Given the description of an element on the screen output the (x, y) to click on. 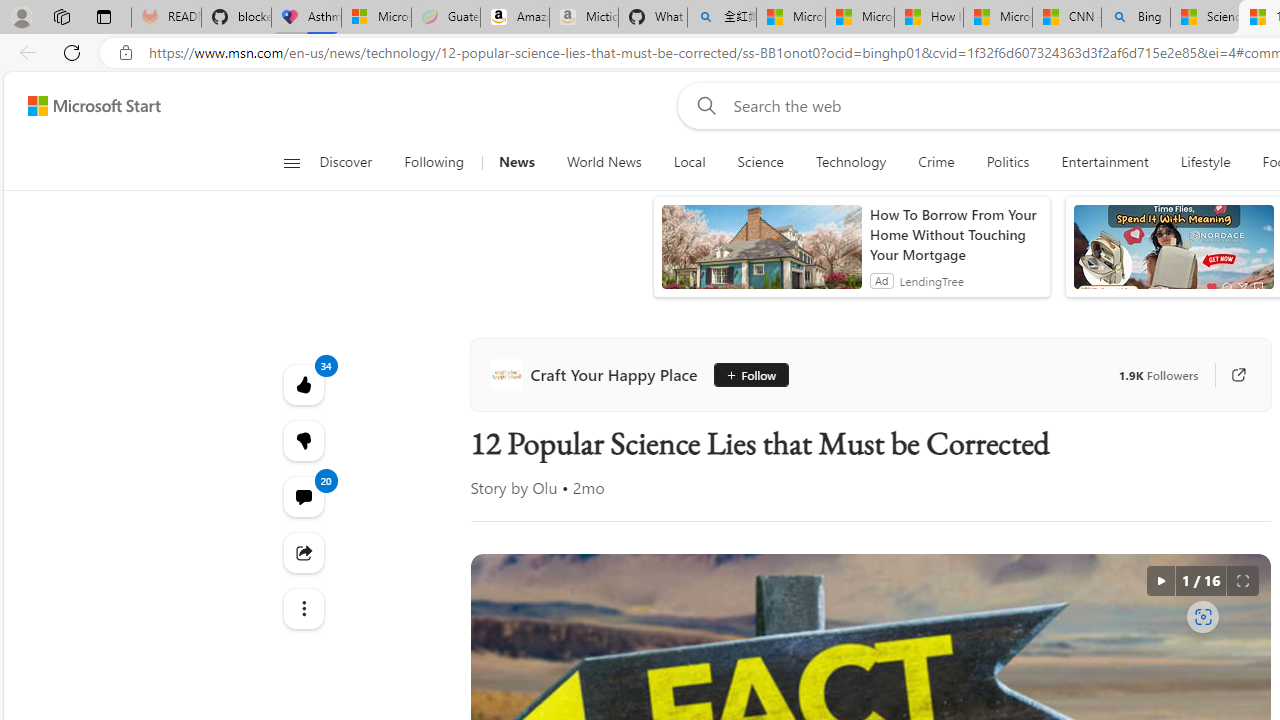
autorotate button (1160, 580)
Bing (1135, 17)
Open navigation menu (291, 162)
Go to publisher's site (1228, 374)
